Given the description of an element on the screen output the (x, y) to click on. 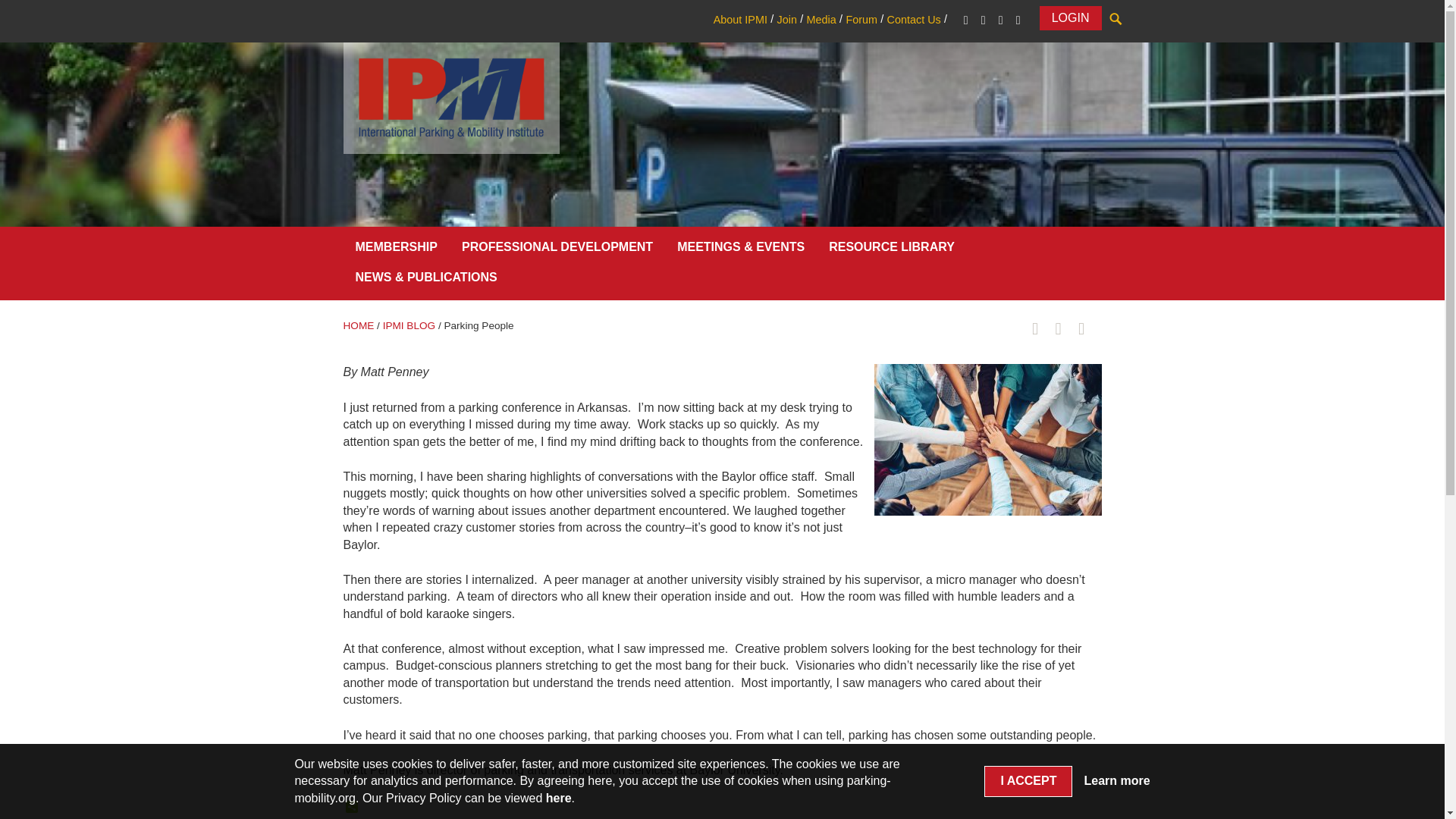
Forum (861, 19)
RESOURCE LIBRARY (891, 250)
Go to the IPMI Blog category archives. (408, 325)
IPMI (450, 97)
Join (786, 19)
Contact Us (913, 19)
Media (821, 19)
MEMBERSHIP (395, 250)
About IPMI (740, 19)
